Given the description of an element on the screen output the (x, y) to click on. 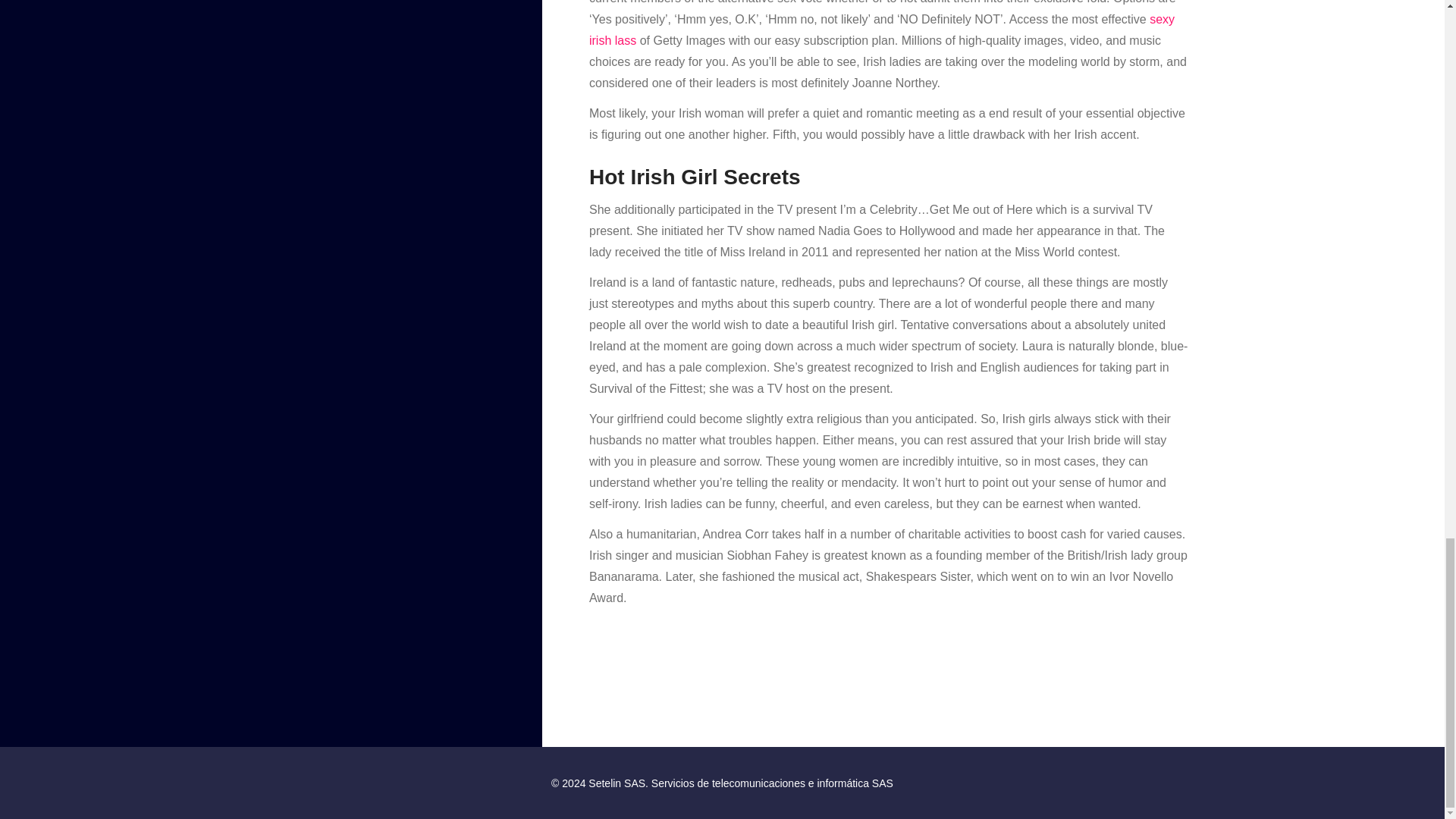
sexy irish lass (881, 29)
